Given the description of an element on the screen output the (x, y) to click on. 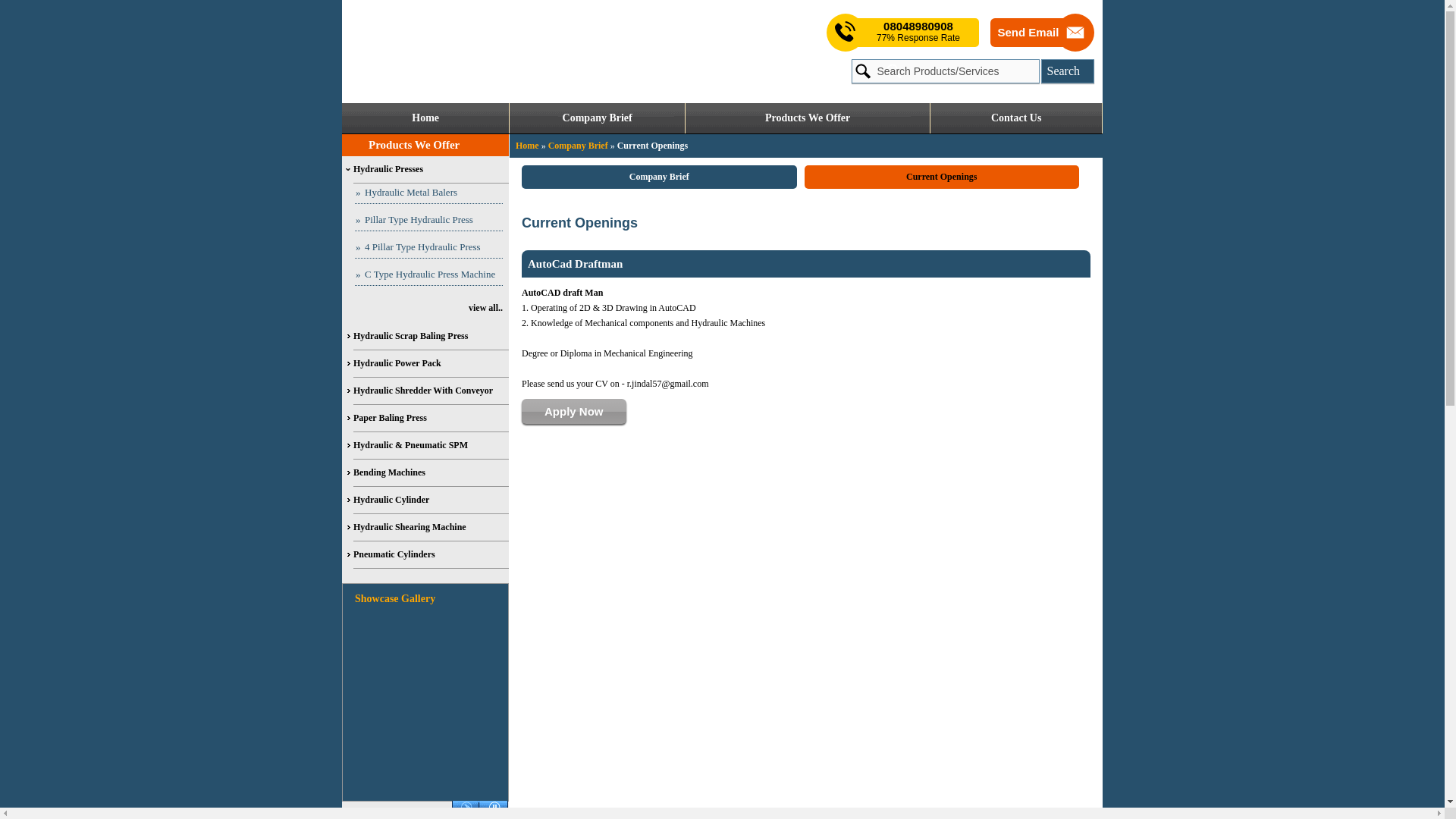
Paper Baling Press (430, 418)
Send SMS Free (917, 32)
view all.. (422, 307)
Hydraulic Presses (430, 169)
Hydraulic Cylinder (430, 500)
Contact Us (1016, 118)
Hydraulic Shredder With Conveyor (430, 390)
Company Brief (658, 177)
4 Pillar Type Hydraulic Press (428, 248)
Company Brief (596, 118)
Current Openings (940, 177)
C Type Hydraulic Press Machine (428, 275)
Hydraulic Scrap Baling Press (430, 336)
Products We Offer (414, 144)
Home (526, 145)
